Given the description of an element on the screen output the (x, y) to click on. 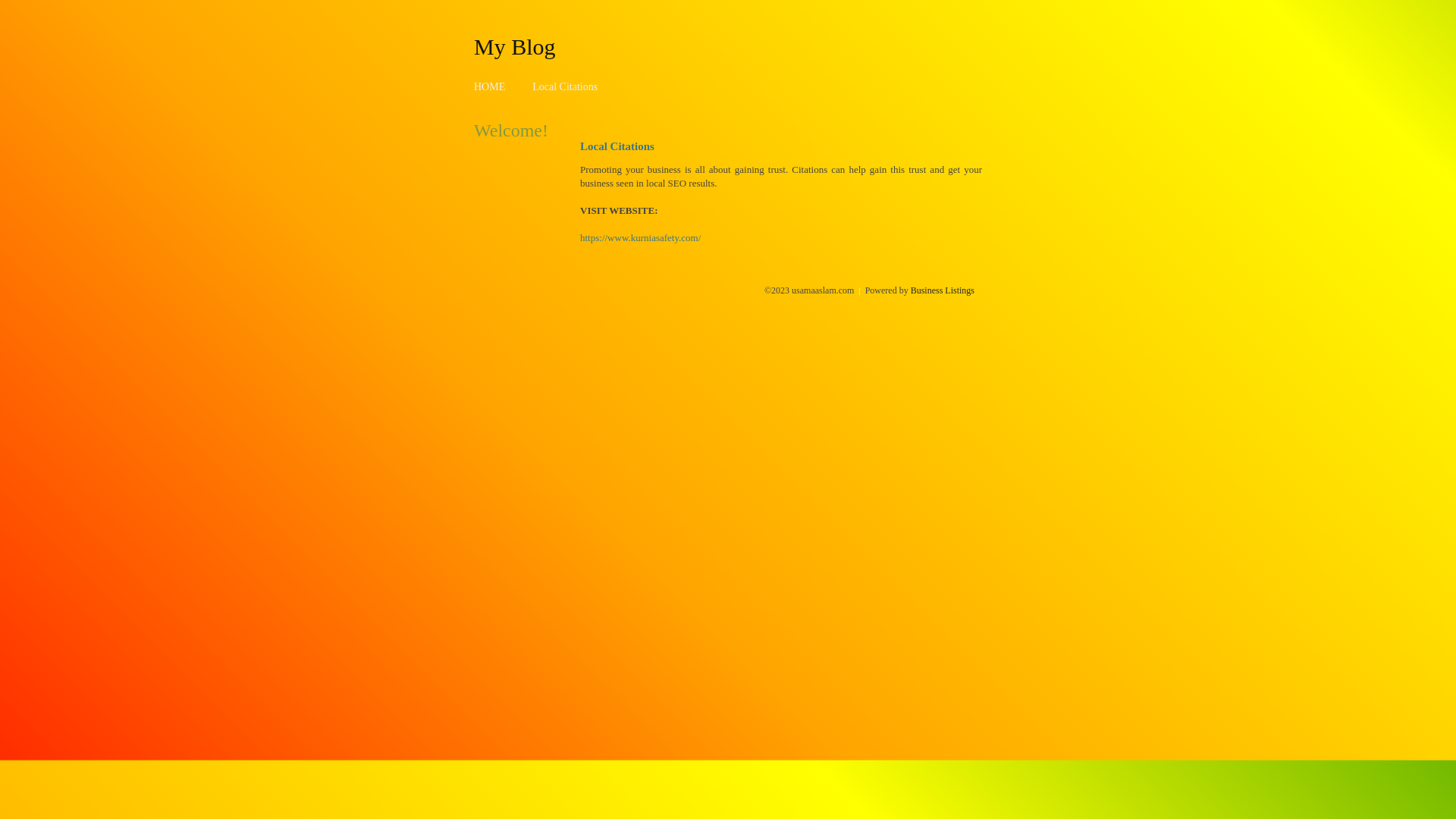
HOME Element type: text (489, 86)
Local Citations Element type: text (564, 86)
https://www.kurniasafety.com/ Element type: text (640, 237)
Business Listings Element type: text (942, 290)
My Blog Element type: text (514, 46)
